Given the description of an element on the screen output the (x, y) to click on. 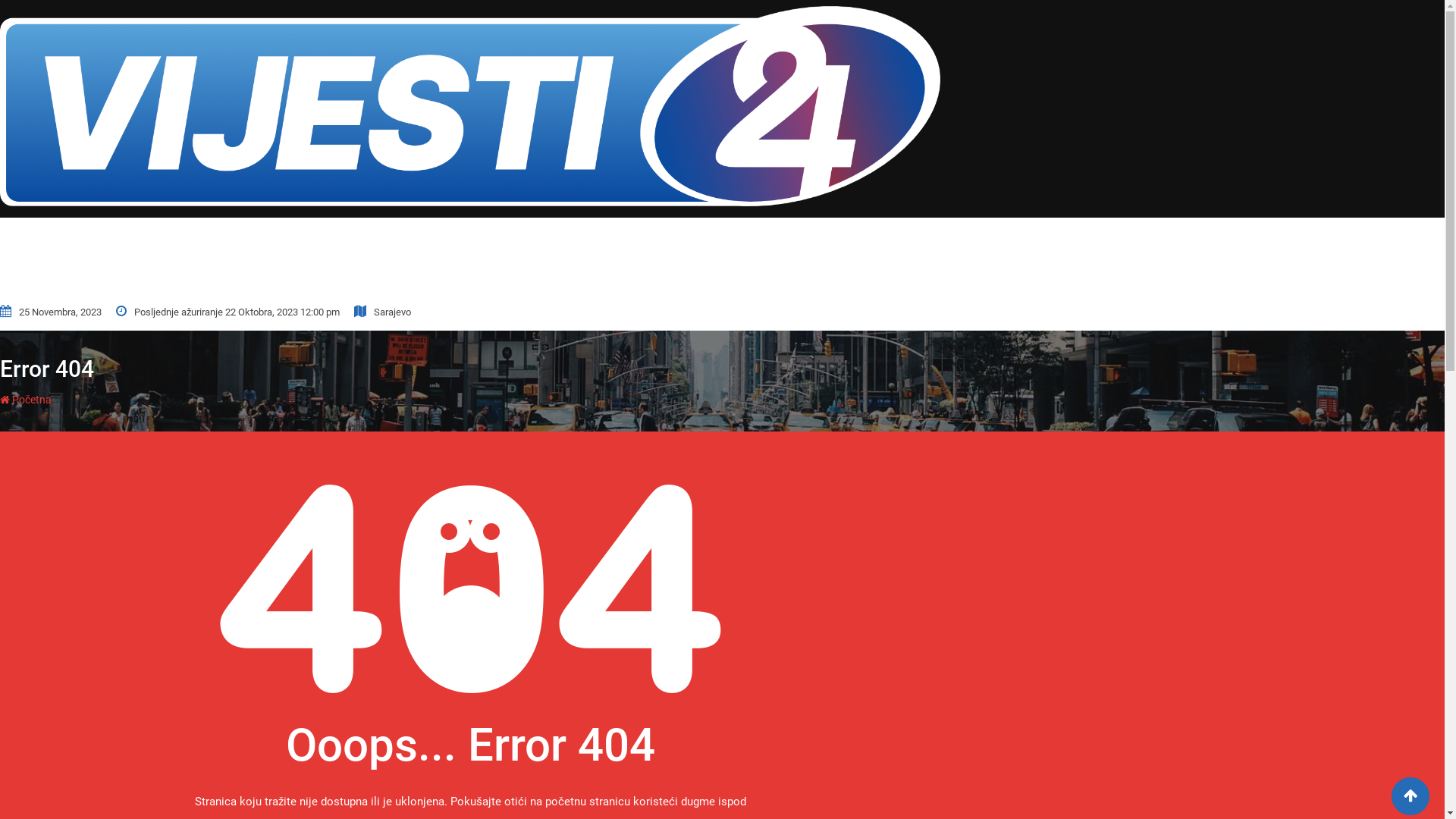
KONTAKT Element type: text (896, 254)
LIFESTYLE Element type: text (719, 254)
CRNA HRONIKA Element type: text (582, 254)
SPORT Element type: text (657, 254)
AUTO Element type: text (777, 254)
VIJESTI Element type: text (504, 254)
SCITECH Element type: text (832, 254)
